Given the description of an element on the screen output the (x, y) to click on. 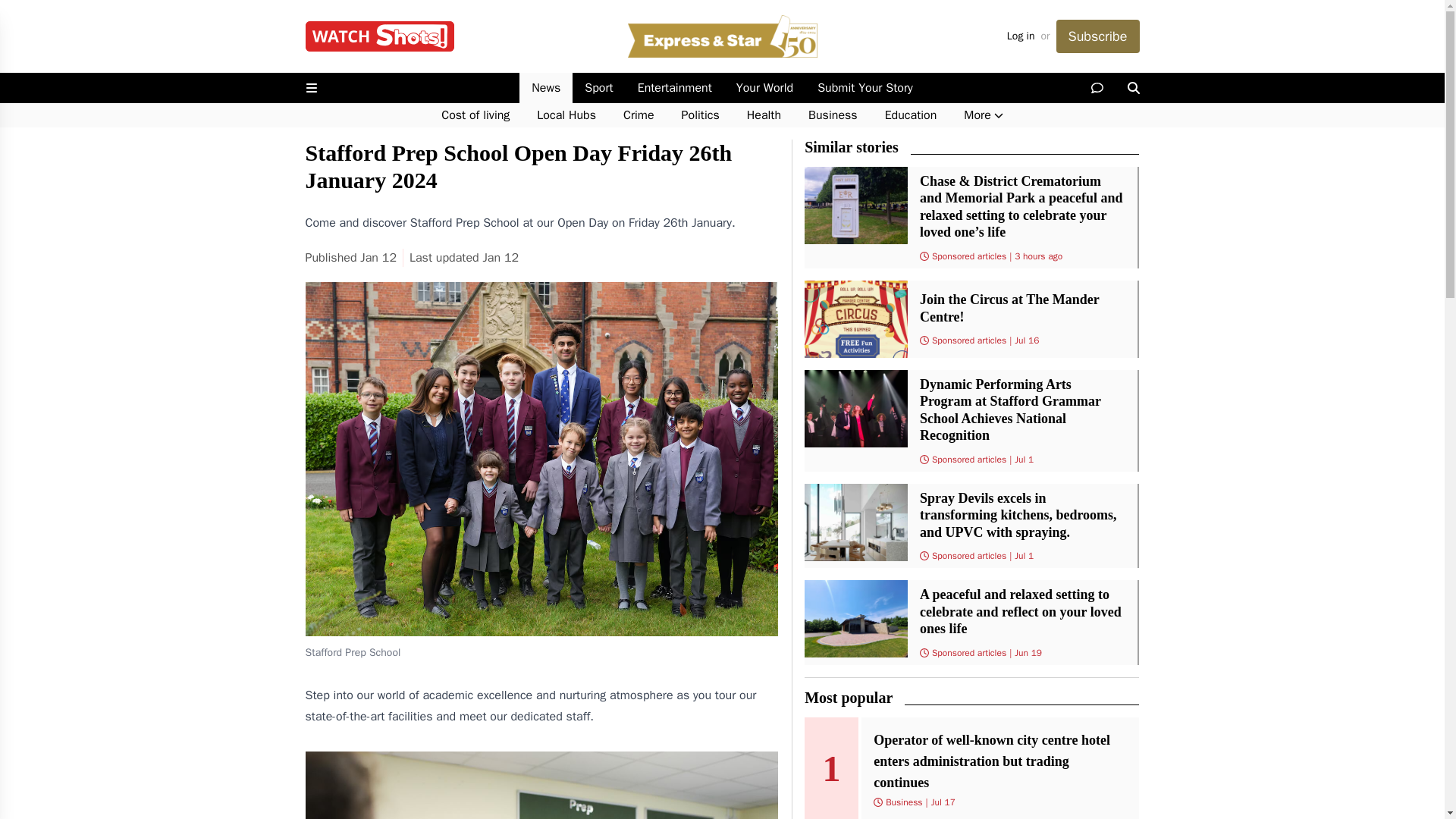
More (983, 115)
Politics (700, 115)
Local Hubs (566, 115)
Sponsored articles (968, 555)
Submit Your Story (864, 87)
Crime (638, 115)
Education (910, 115)
Sponsored articles (968, 653)
Log in (1021, 36)
Your World (764, 87)
Sponsored articles (968, 256)
Subscribe (1096, 36)
Cost of living (475, 115)
News (545, 87)
Health (764, 115)
